Given the description of an element on the screen output the (x, y) to click on. 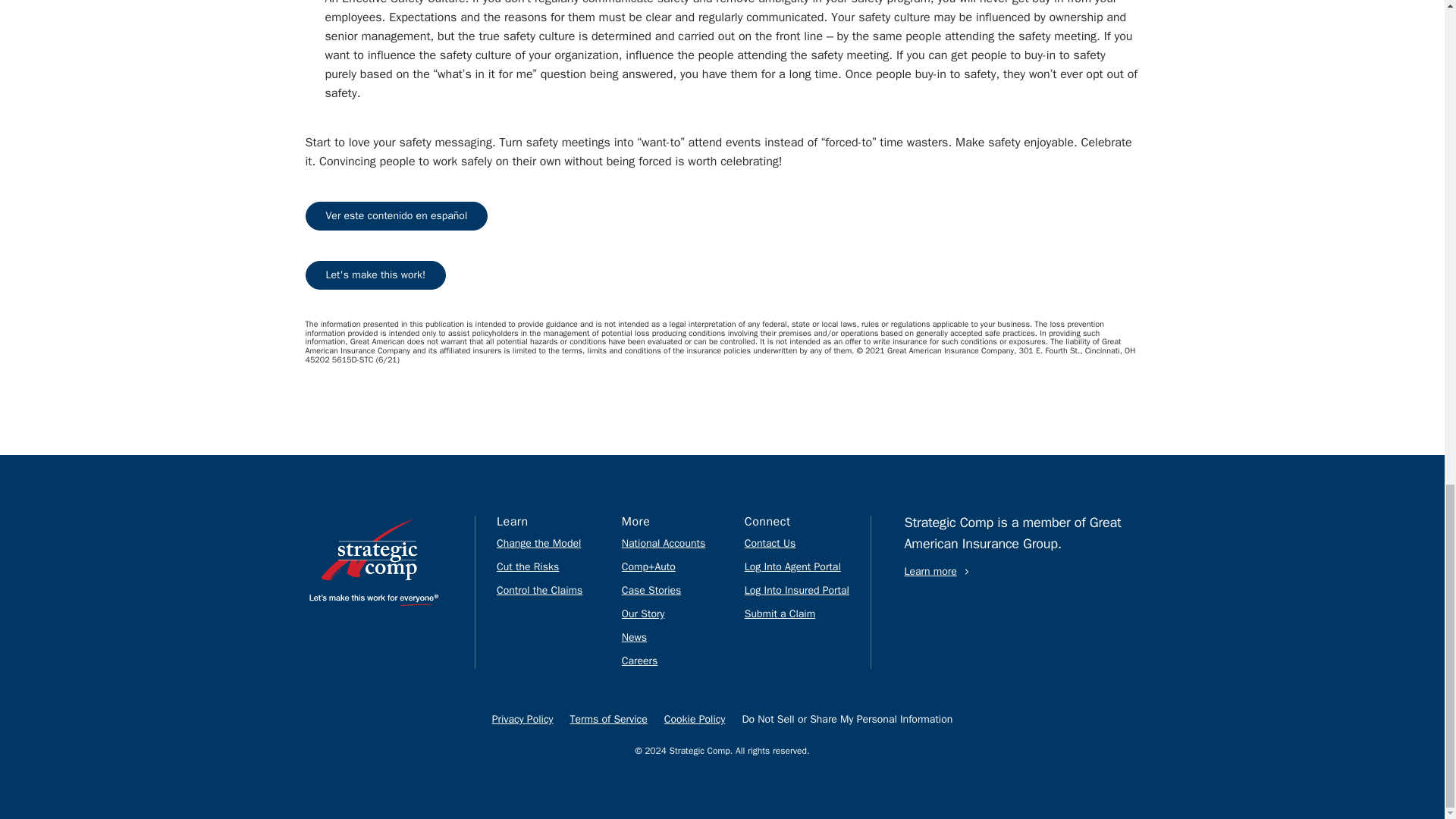
Log Into Insured Portal (796, 590)
Control the Claims (539, 590)
National Accounts (662, 543)
Learn more (937, 571)
Terms of Service (608, 718)
Let's make this work! (374, 275)
Cut the Risks (527, 566)
Case Stories (651, 590)
Contact Us (769, 543)
Log Into Agent Portal (792, 566)
